Given the description of an element on the screen output the (x, y) to click on. 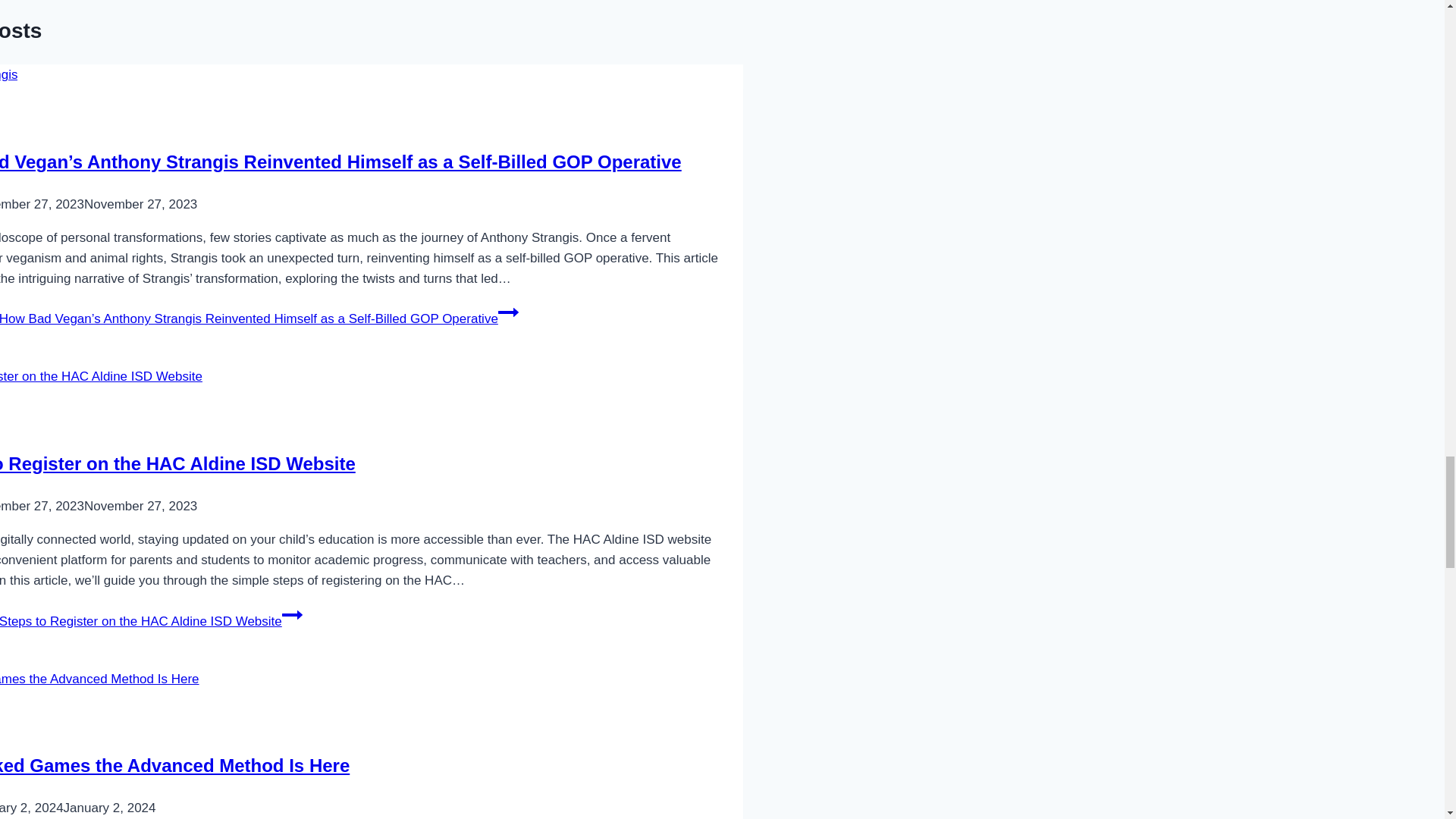
Continue (507, 312)
Steps to Register on the HAC Aldine ISD Website (177, 463)
Continue (292, 614)
Unblocked Games the Advanced Method Is Here (174, 765)
